Given the description of an element on the screen output the (x, y) to click on. 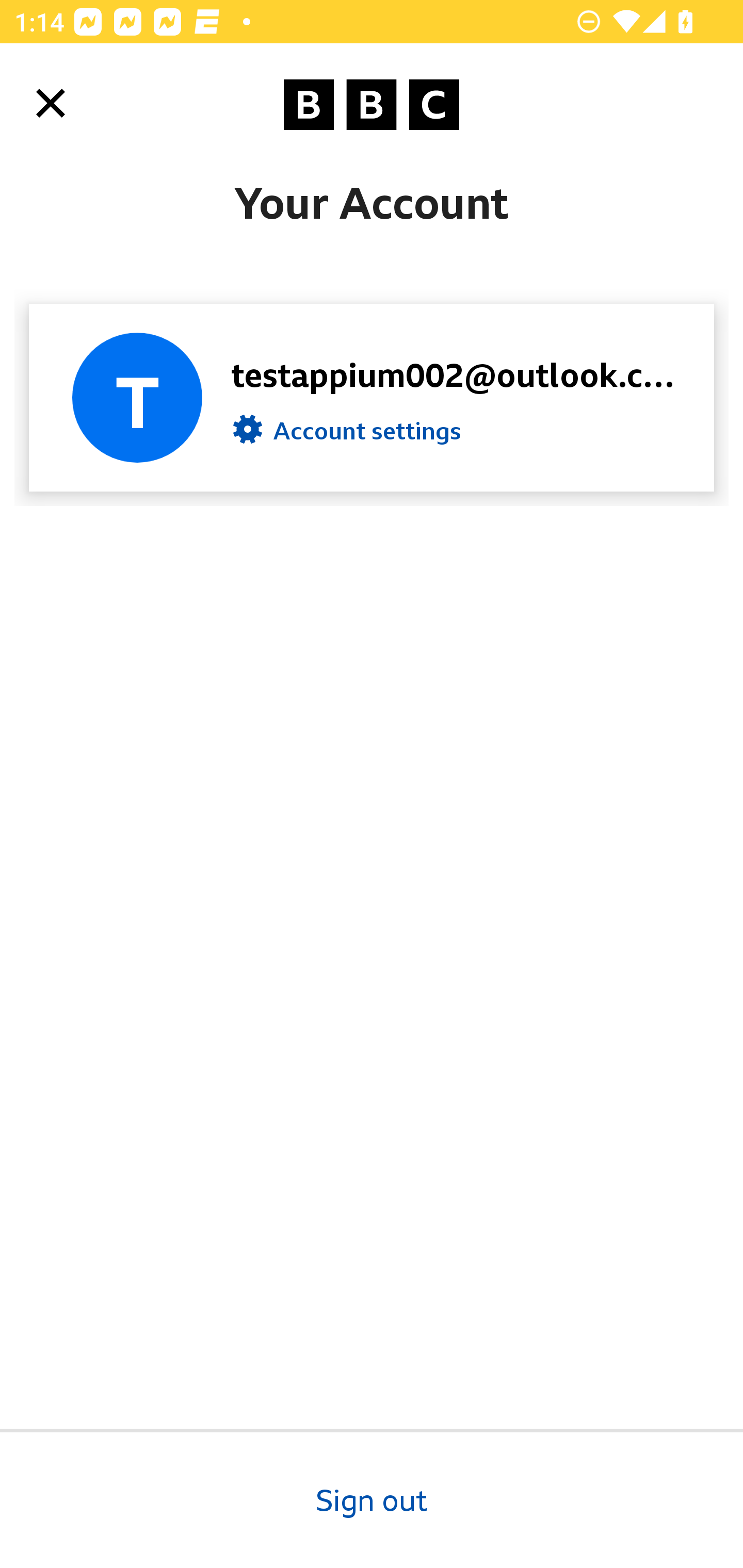
Close (50, 103)
testappium002@outlook.com Account settings (371, 397)
Account settings (346, 433)
Sign out (371, 1498)
